Given the description of an element on the screen output the (x, y) to click on. 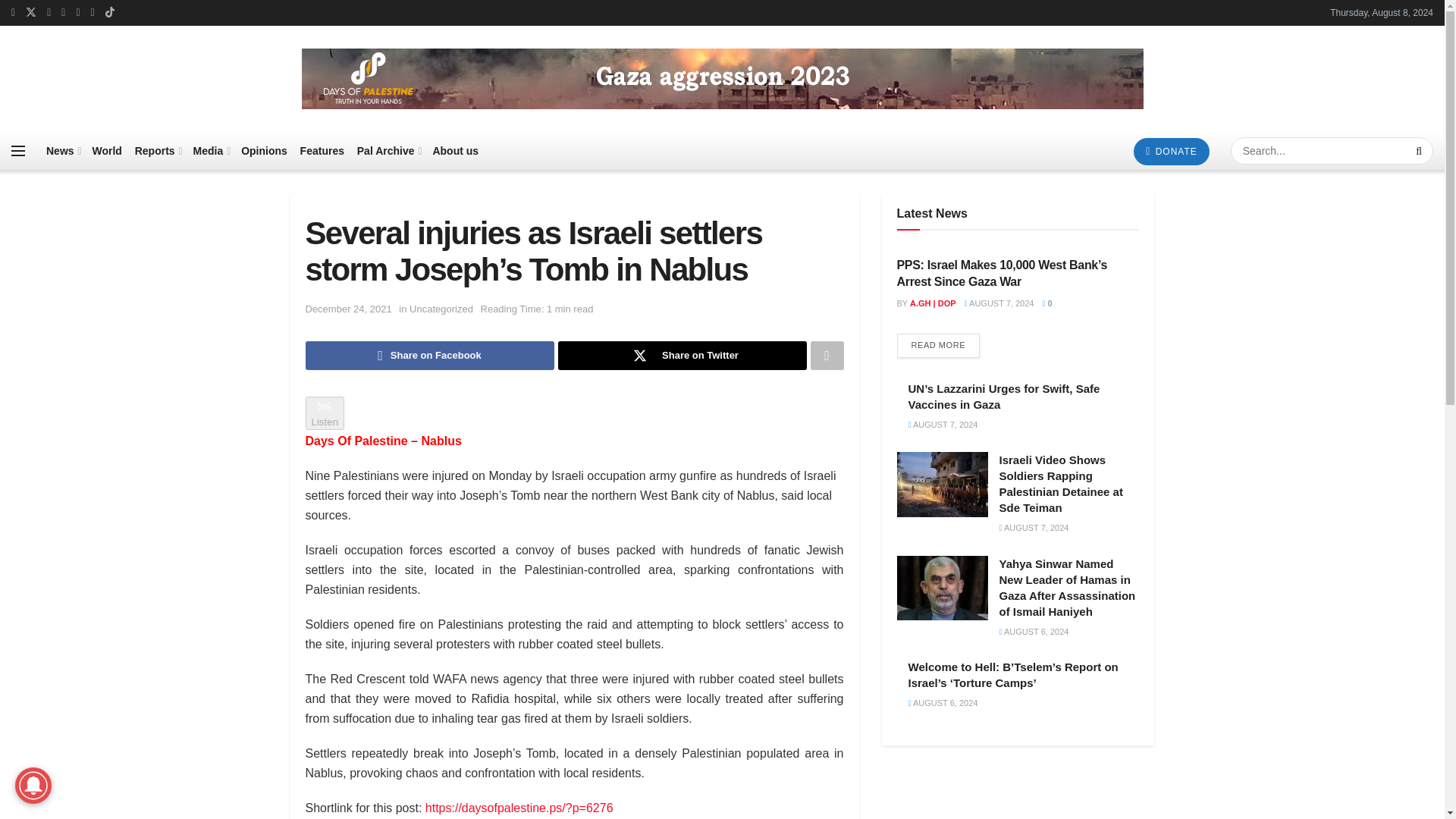
Features (321, 150)
Media (210, 150)
Reports (157, 150)
Opinions (263, 150)
Pal Archive (388, 150)
